Given the description of an element on the screen output the (x, y) to click on. 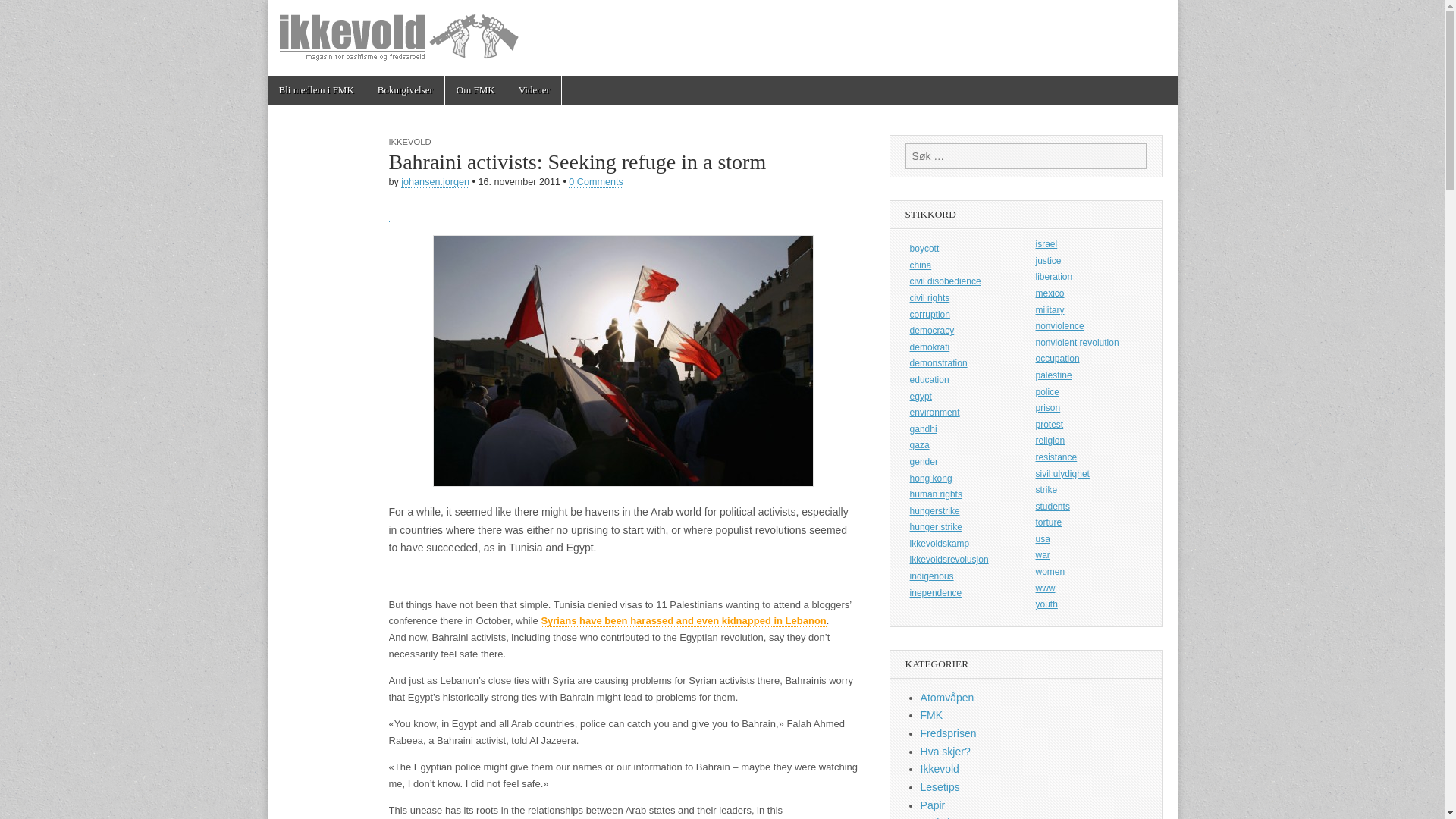
civil disobedience (963, 282)
Bli medlem i FMK (315, 90)
johansen.jorgen (434, 182)
ikkevold.no (721, 37)
civil rights (963, 298)
democracy (963, 331)
Posts by johansen.jorgen (434, 182)
ikkevold.no (368, 52)
